Given the description of an element on the screen output the (x, y) to click on. 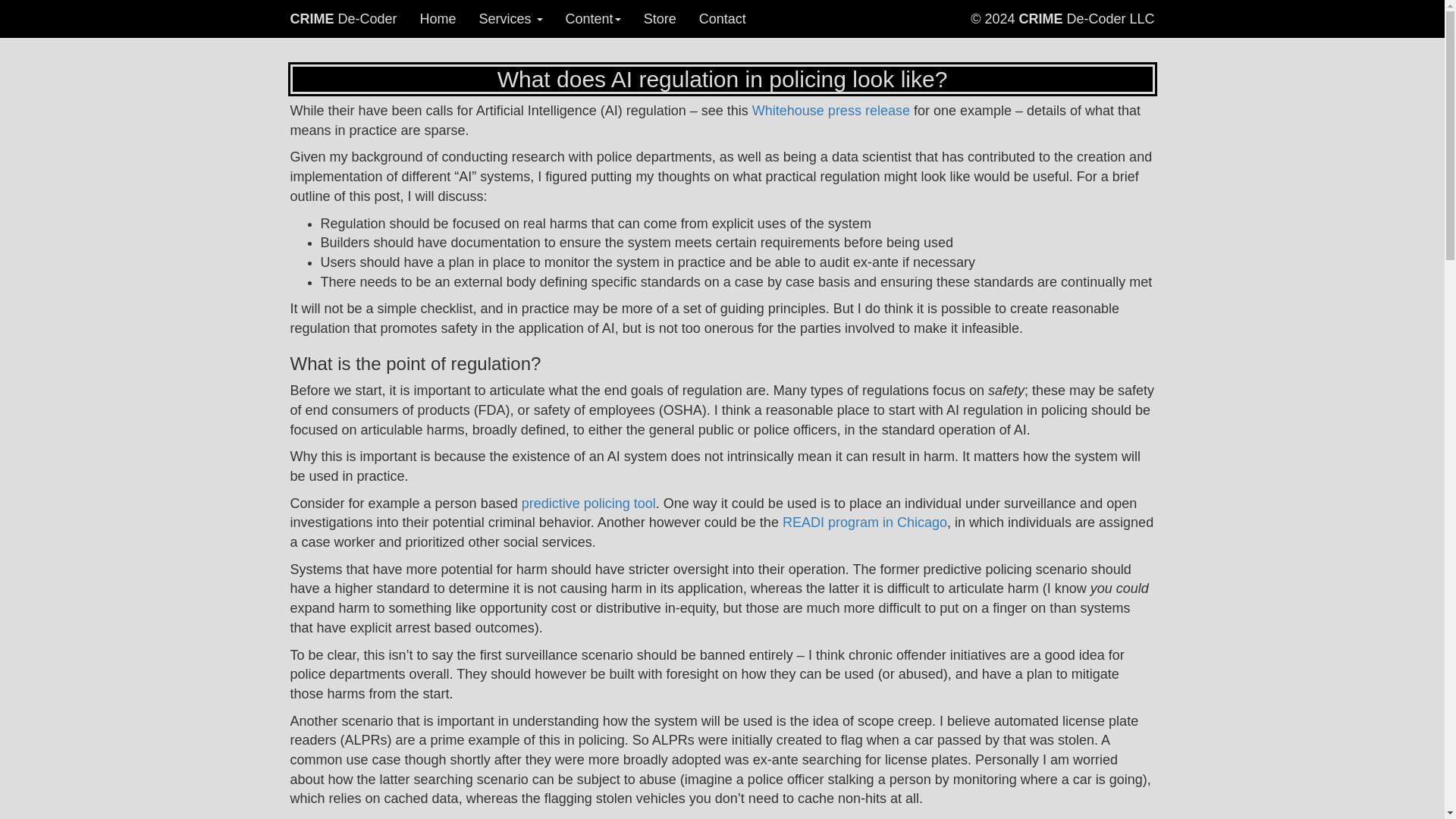
Whitehouse press release (831, 110)
Services (510, 18)
Contact (722, 18)
Store (659, 18)
Home (438, 18)
Content (592, 18)
CRIME De-Coder (344, 18)
predictive policing tool (588, 503)
READI program in Chicago (865, 522)
